Given the description of an element on the screen output the (x, y) to click on. 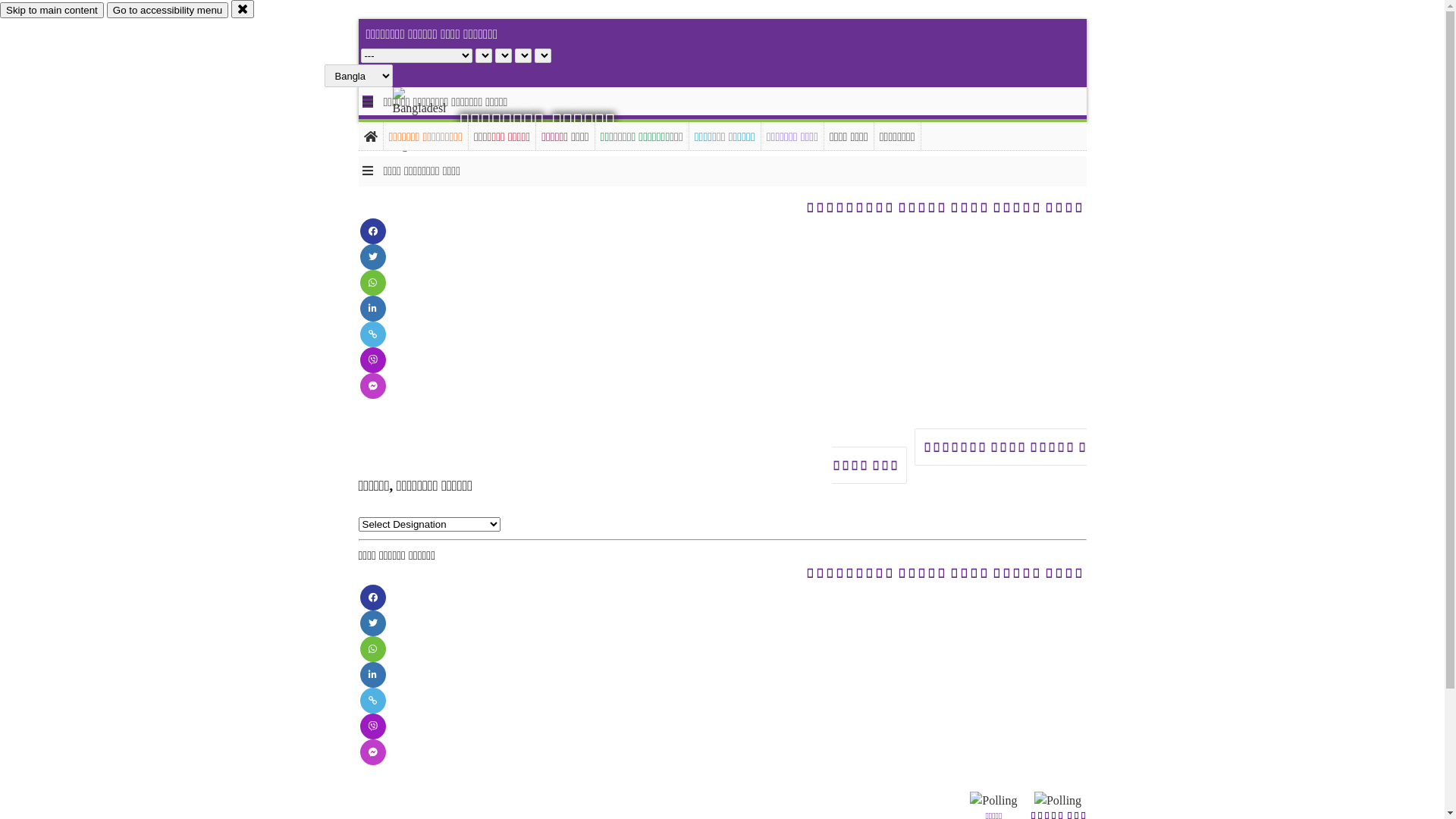
close Element type: hover (242, 9)

                
             Element type: hover (431, 120)
Skip to main content Element type: text (51, 10)
Go to accessibility menu Element type: text (167, 10)
